Given the description of an element on the screen output the (x, y) to click on. 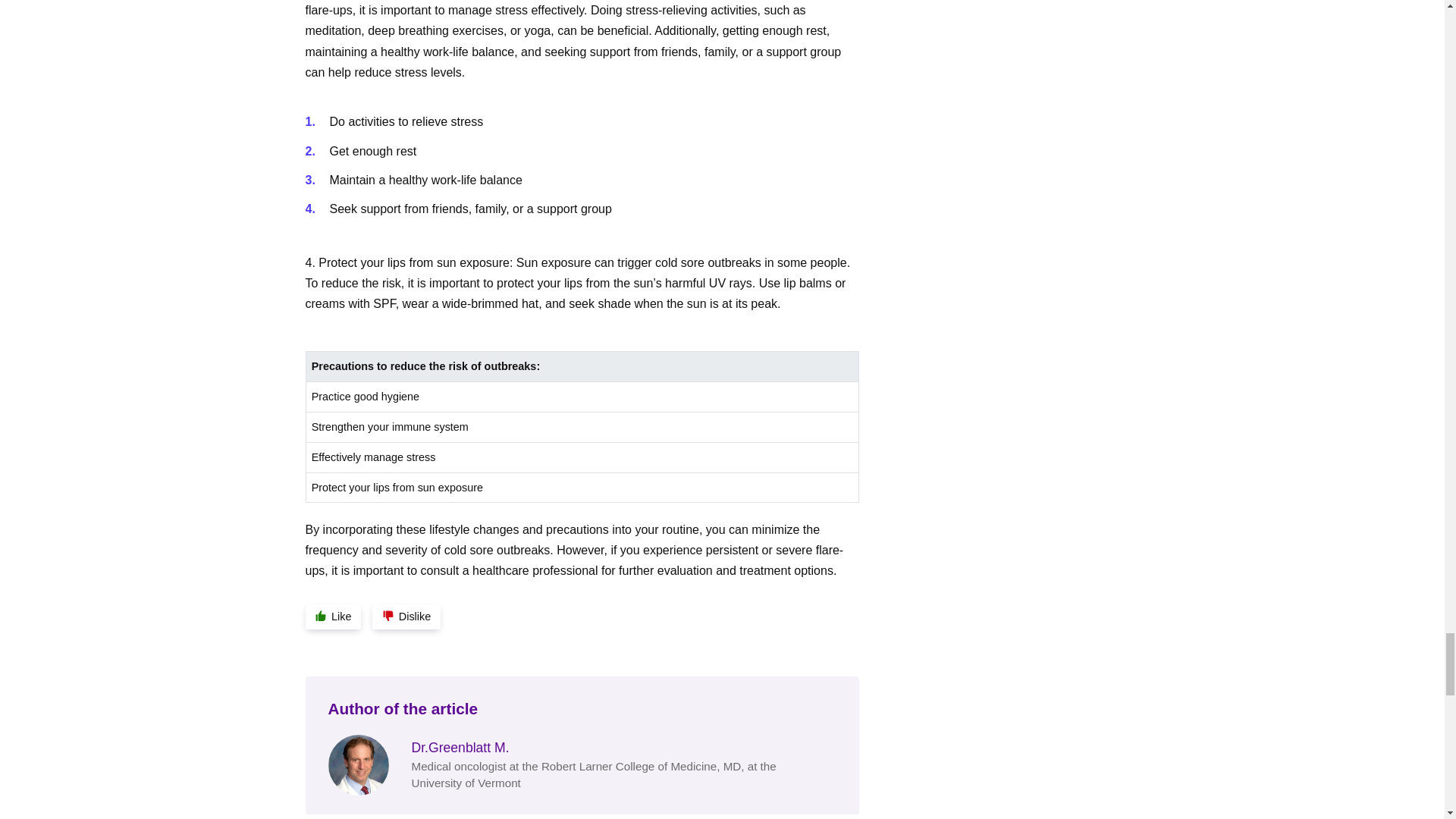
Dislike (406, 616)
Like (332, 616)
